Given the description of an element on the screen output the (x, y) to click on. 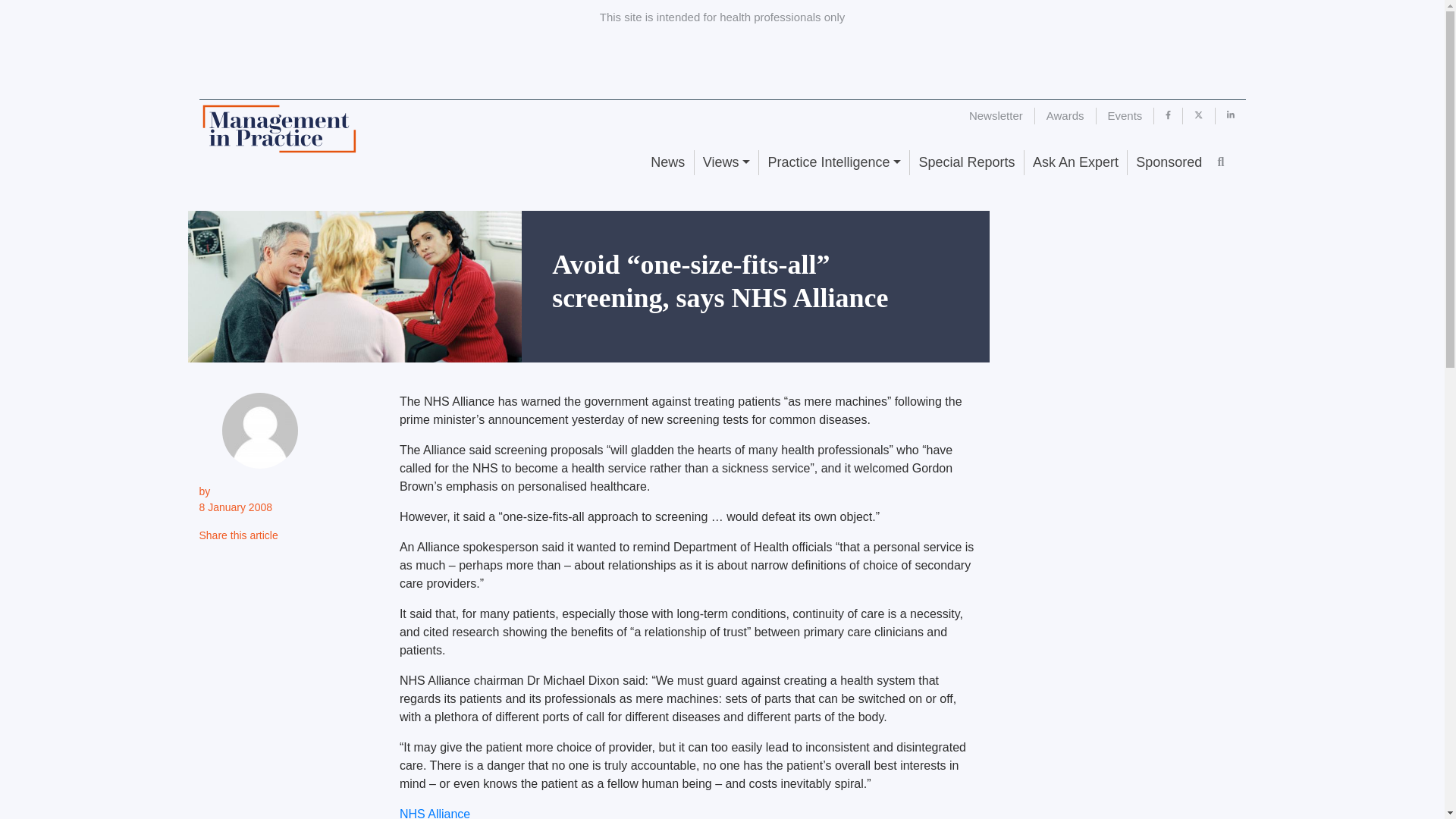
Awards (1065, 115)
Newsletter (996, 115)
Practice Intelligence (833, 162)
Views (726, 162)
Sponsored (1167, 162)
Special Reports (966, 162)
Ask An Expert (1075, 162)
News (667, 162)
Events (1125, 115)
